Given the description of an element on the screen output the (x, y) to click on. 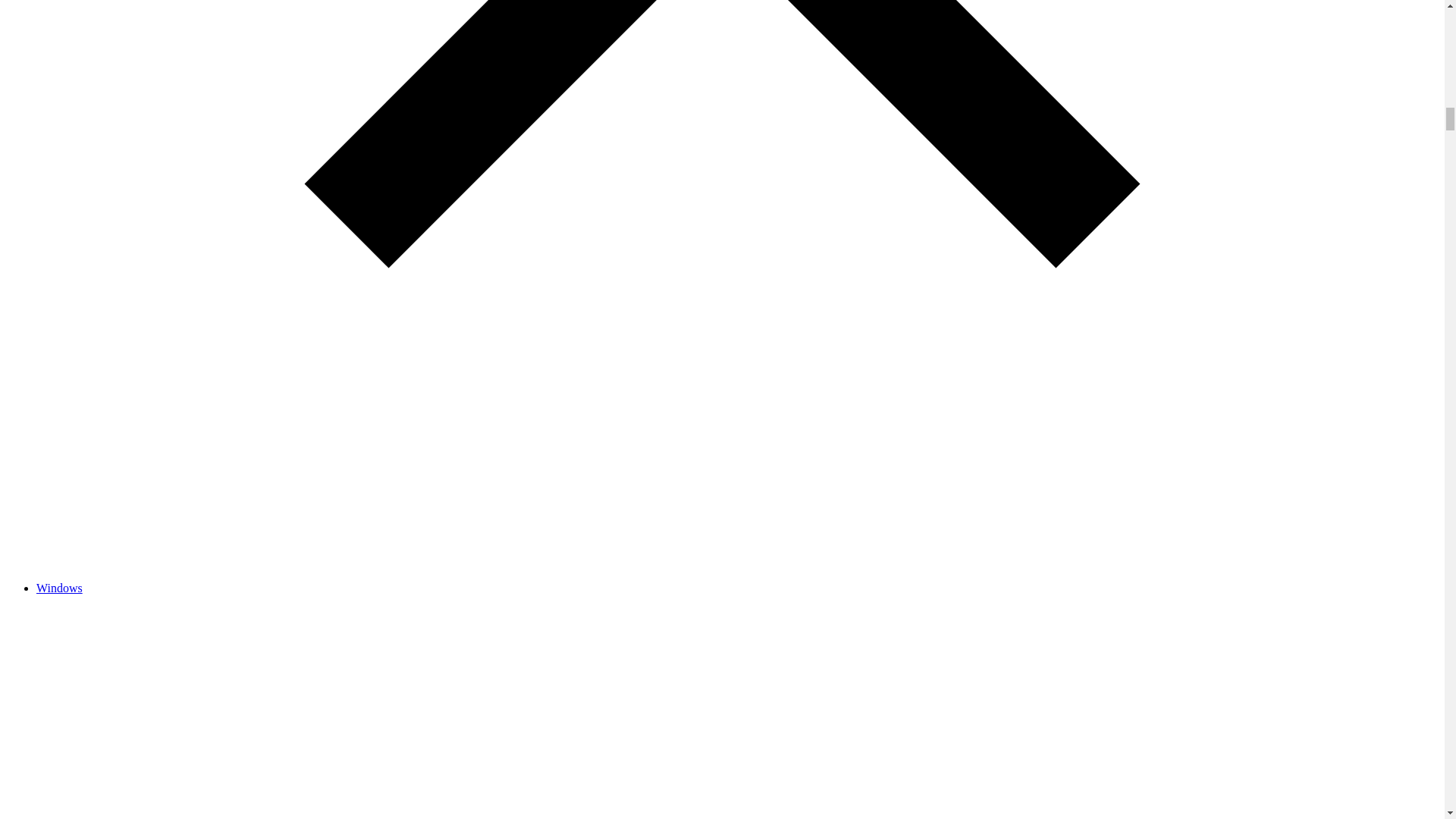
Windows (59, 587)
